Given the description of an element on the screen output the (x, y) to click on. 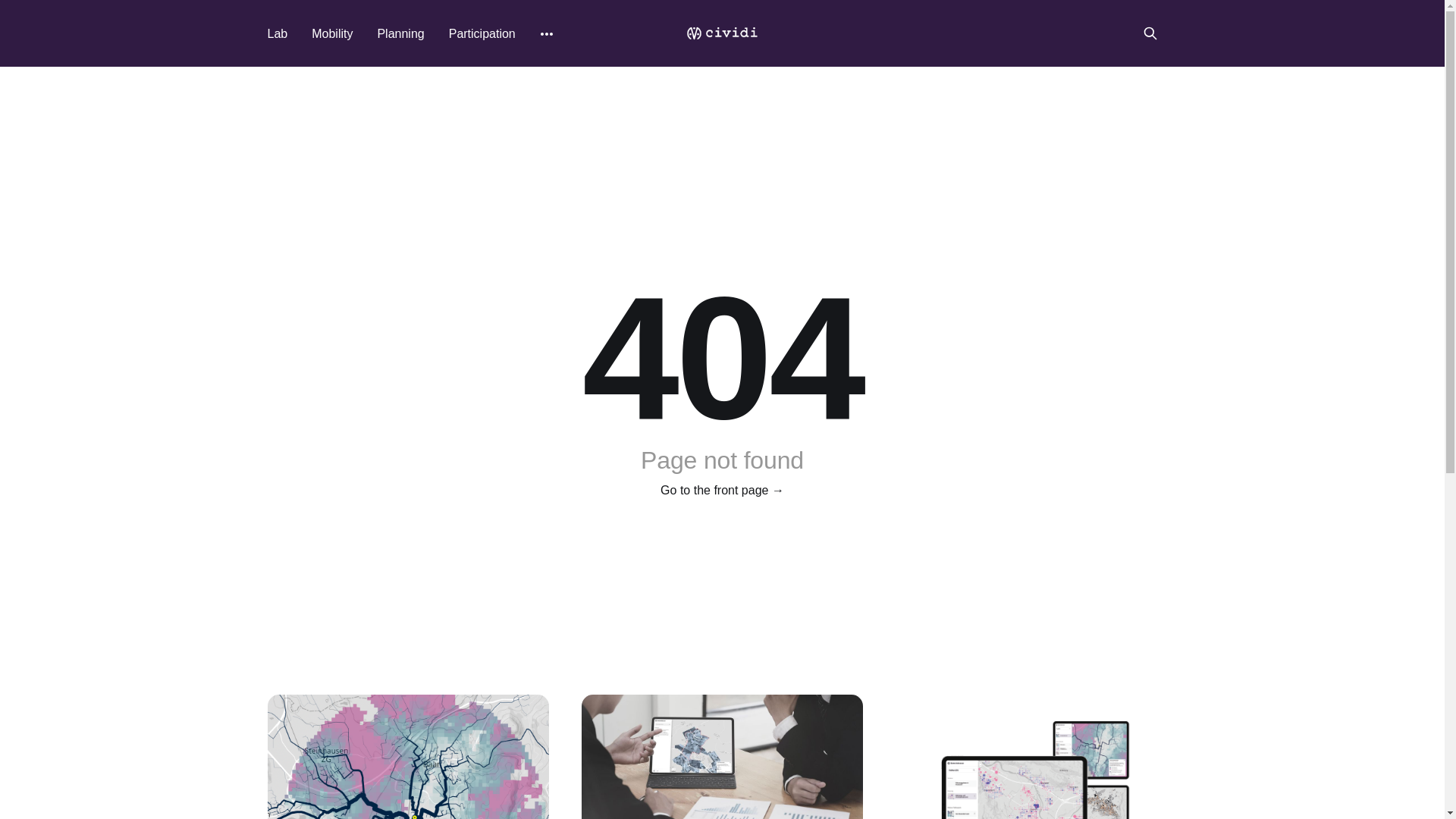
Planning Element type: text (399, 33)
Mobility Element type: text (331, 33)
Participation Element type: text (481, 33)
Lab Element type: text (276, 33)
